Given the description of an element on the screen output the (x, y) to click on. 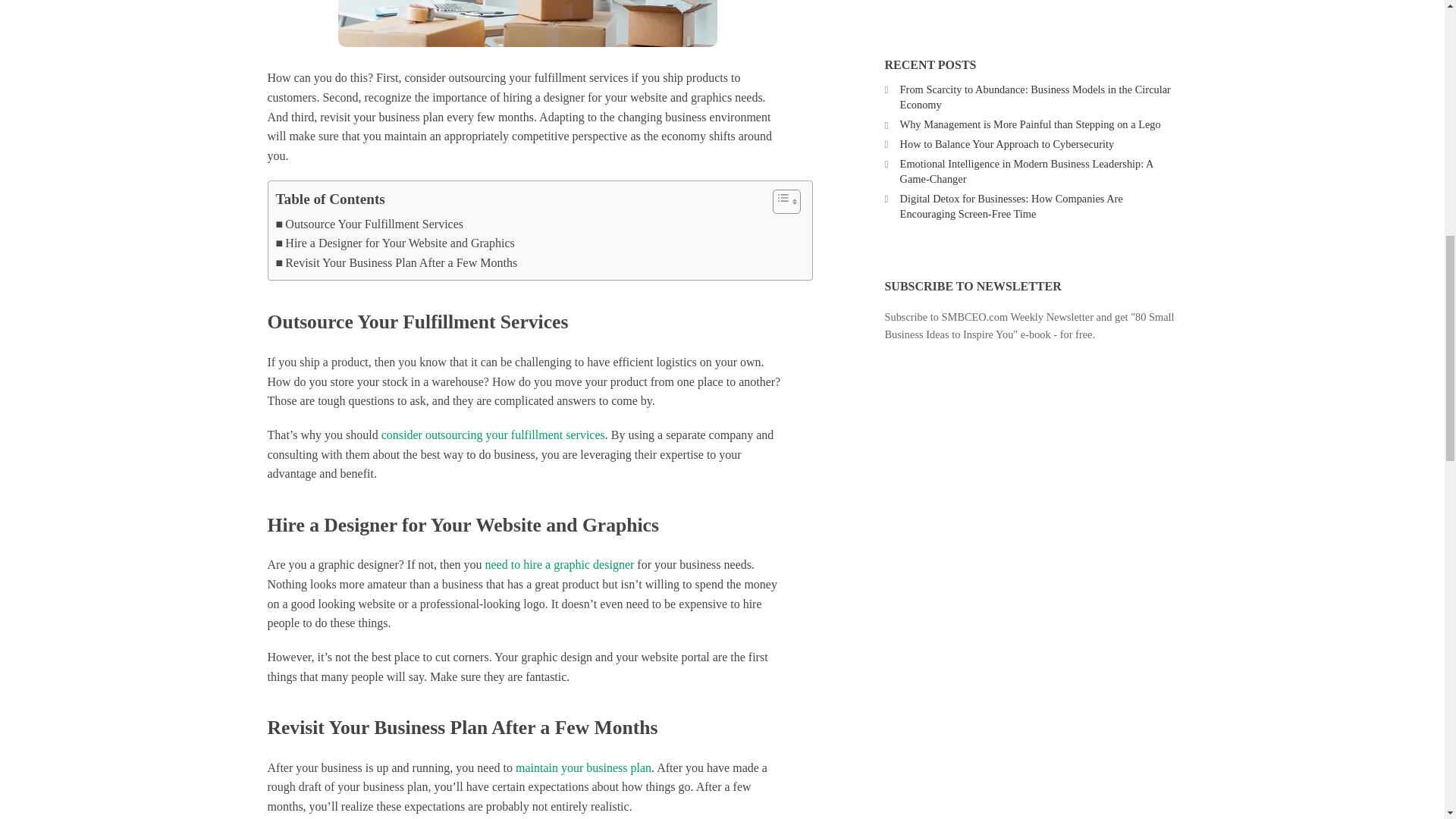
Hire a Designer for Your Website and Graphics (395, 243)
Outsource Your Fulfillment Services (370, 224)
Revisit Your Business Plan After a Few Months (397, 262)
Outsource Your Fulfillment Services (370, 224)
Hire a Designer for Your Website and Graphics (395, 243)
Revisit Your Business Plan After a Few Months (397, 262)
need to hire a graphic designer (559, 563)
maintain your business plan (582, 767)
consider outsourcing your fulfillment services (493, 434)
